Given the description of an element on the screen output the (x, y) to click on. 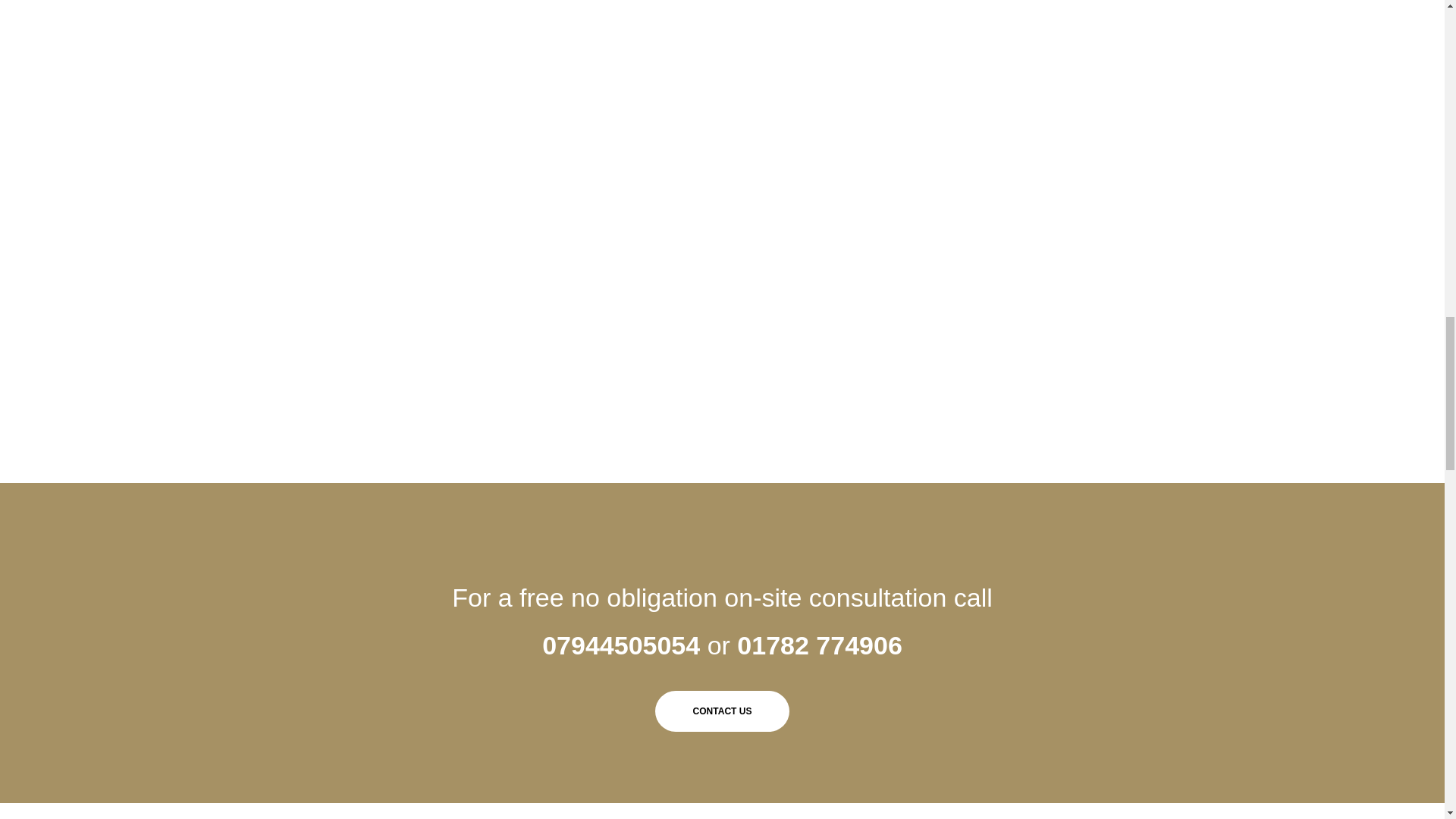
Contact us (722, 711)
07944505054 (620, 645)
01782 774906 (818, 645)
CONTACT US (722, 711)
